Given the description of an element on the screen output the (x, y) to click on. 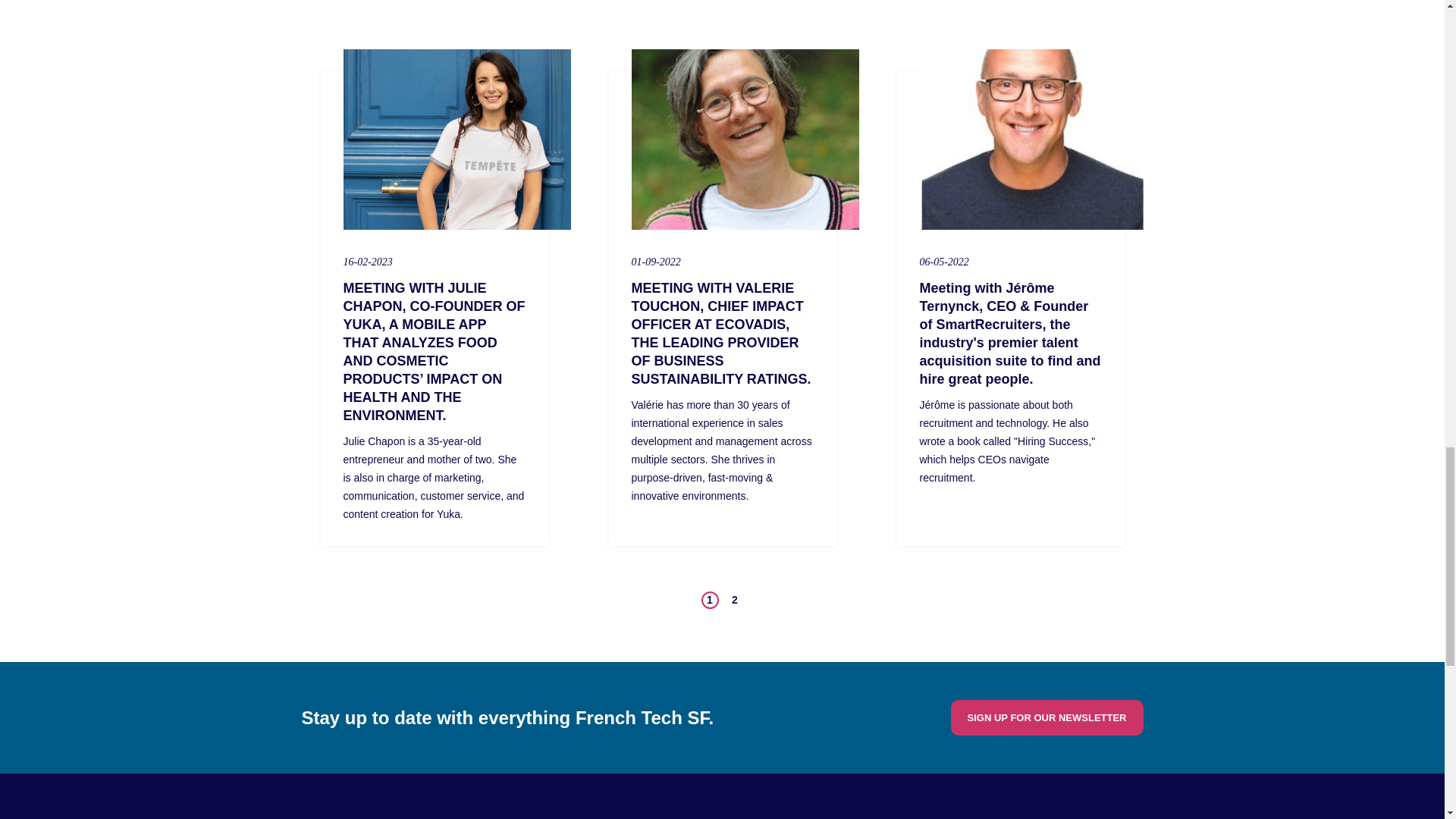
SIGN UP FOR OUR NEWSLETTER (1046, 717)
